Given the description of an element on the screen output the (x, y) to click on. 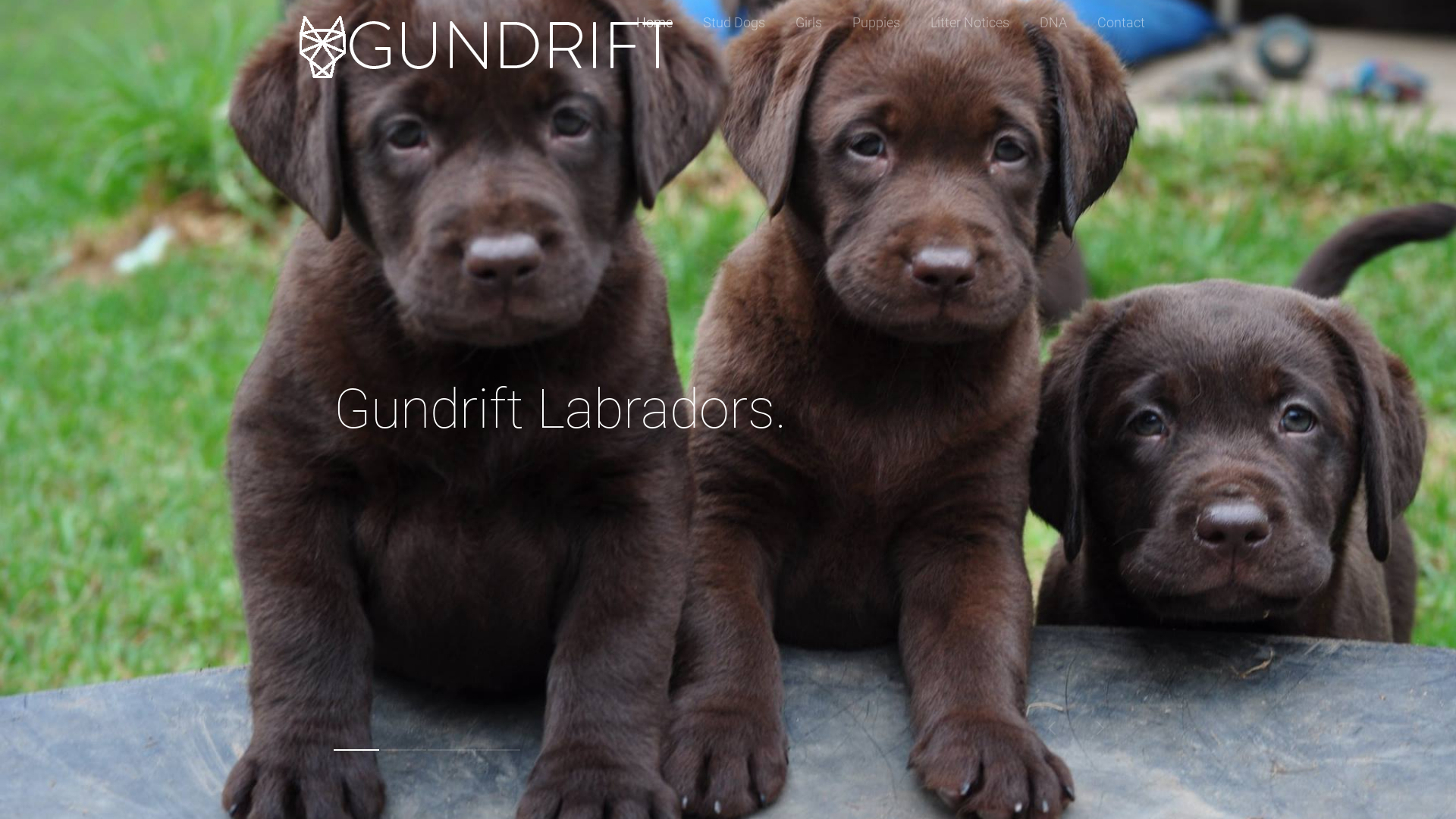
DNA Element type: text (1053, 22)
Home Element type: text (654, 22)
Puppies Element type: text (876, 22)
Stud Dogs Element type: text (733, 22)
Girls Element type: text (808, 22)
Litter Notices Element type: text (969, 22)
Contact Element type: text (1121, 22)
